Given the description of an element on the screen output the (x, y) to click on. 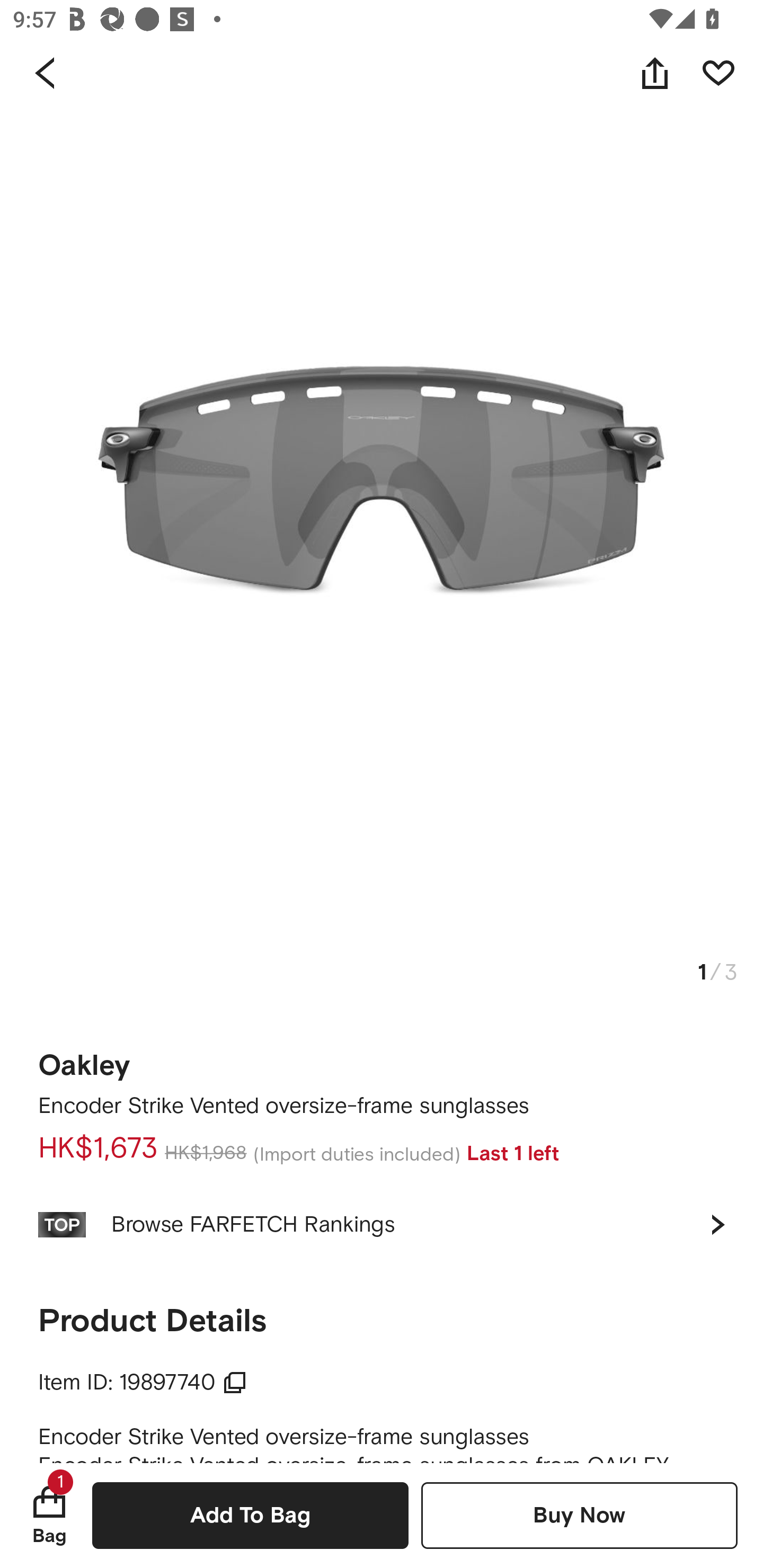
Oakley (83, 1059)
Browse FARFETCH Rankings (381, 1224)
Item ID: 19897740 (142, 1382)
Bag 1 (49, 1515)
Add To Bag (250, 1515)
Buy Now (579, 1515)
